Given the description of an element on the screen output the (x, y) to click on. 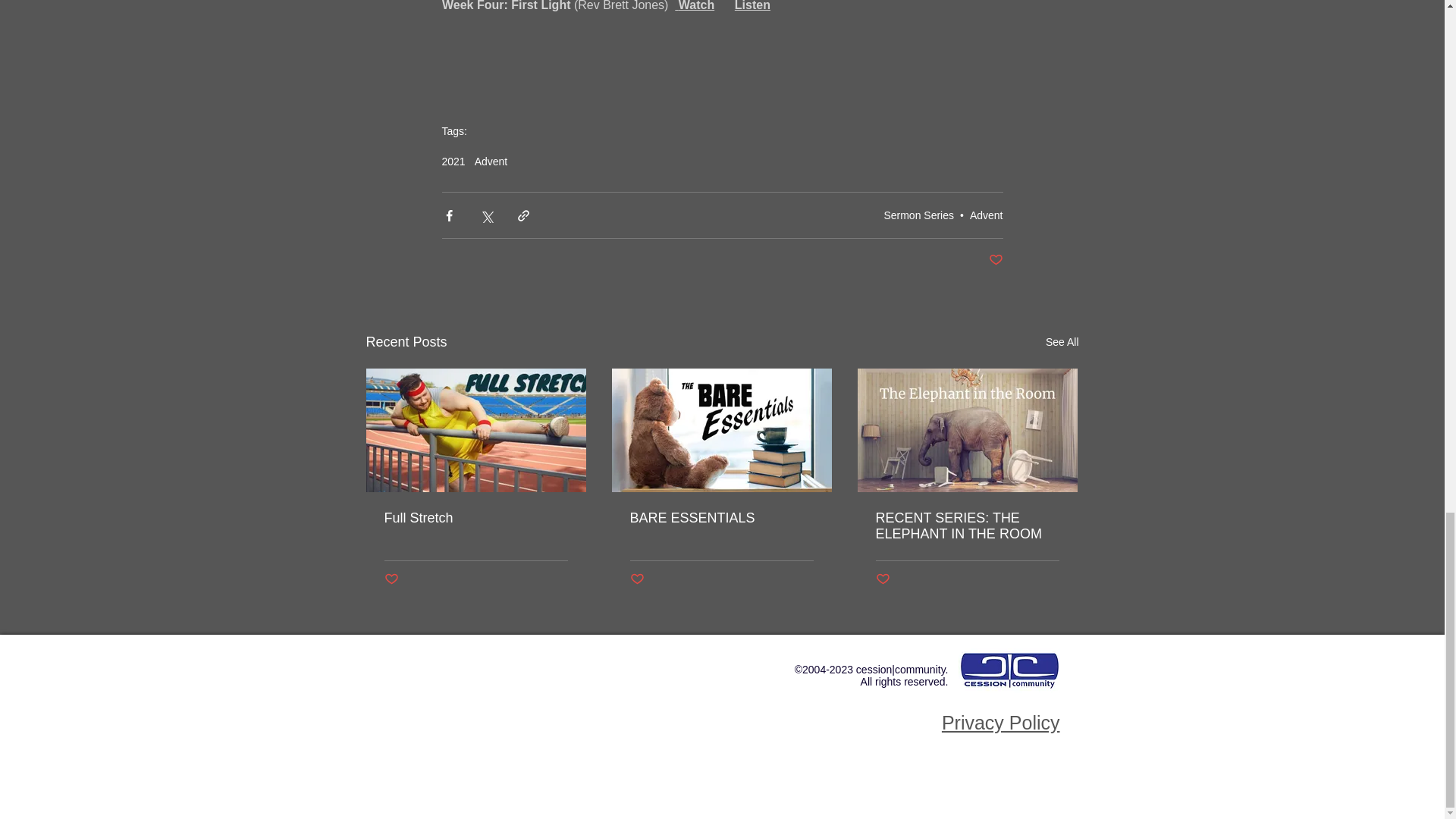
Sermon Series (918, 215)
Post not marked as liked (635, 579)
Advent (491, 161)
2021 (452, 161)
See All (1061, 341)
Full Stretch (475, 518)
Post not marked as liked (882, 579)
BARE ESSENTIALS (720, 518)
Listen (751, 5)
RECENT SERIES: THE ELEPHANT IN THE ROOM (966, 526)
